Given the description of an element on the screen output the (x, y) to click on. 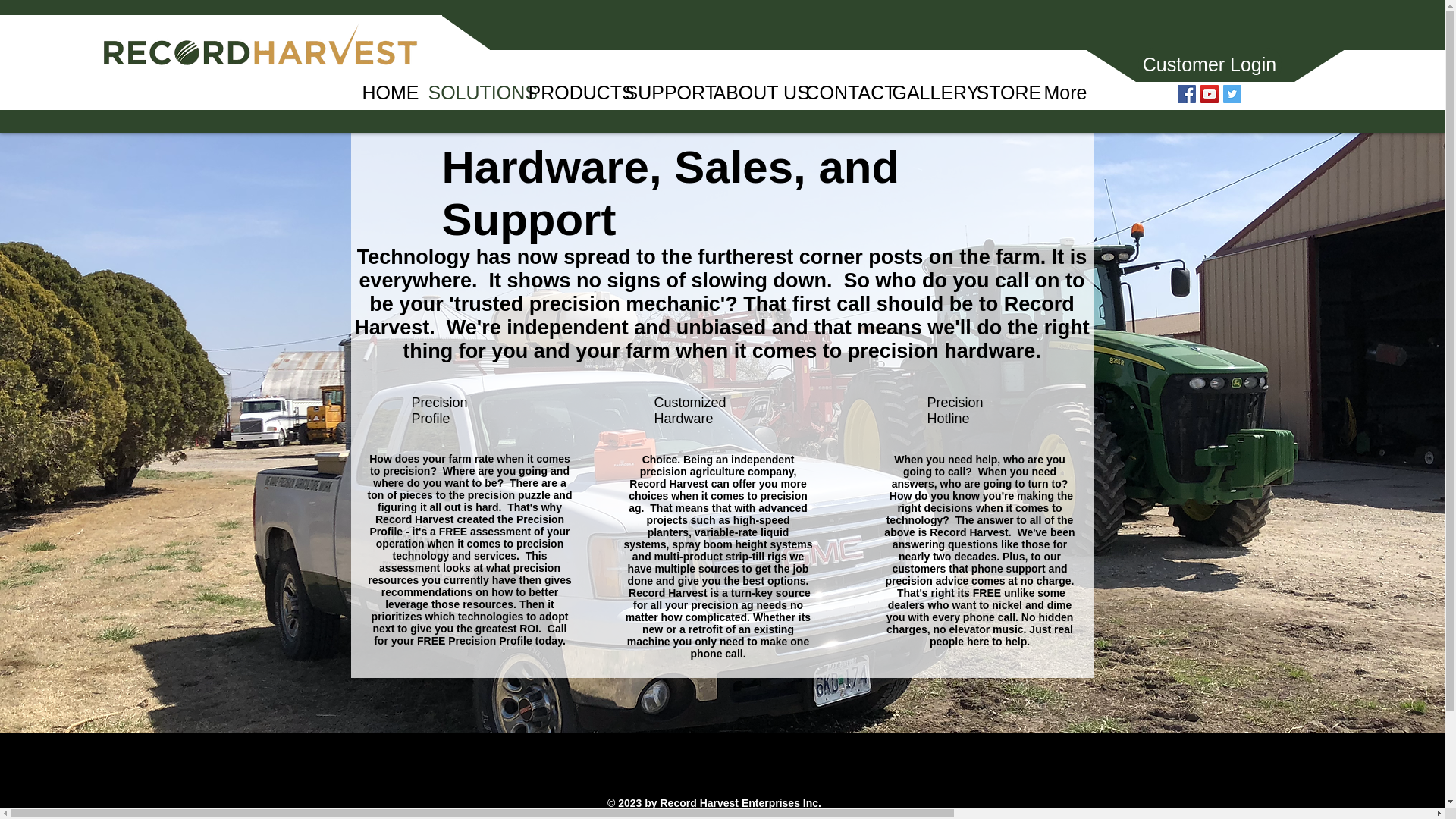
ABOUT US (747, 92)
STORE (997, 92)
Customer Login (1209, 64)
HOME (383, 92)
CONTACT (837, 92)
SUPPORT (657, 92)
PRODUCTS (565, 92)
SOLUTIONS (466, 92)
GALLERY (922, 92)
